Given the description of an element on the screen output the (x, y) to click on. 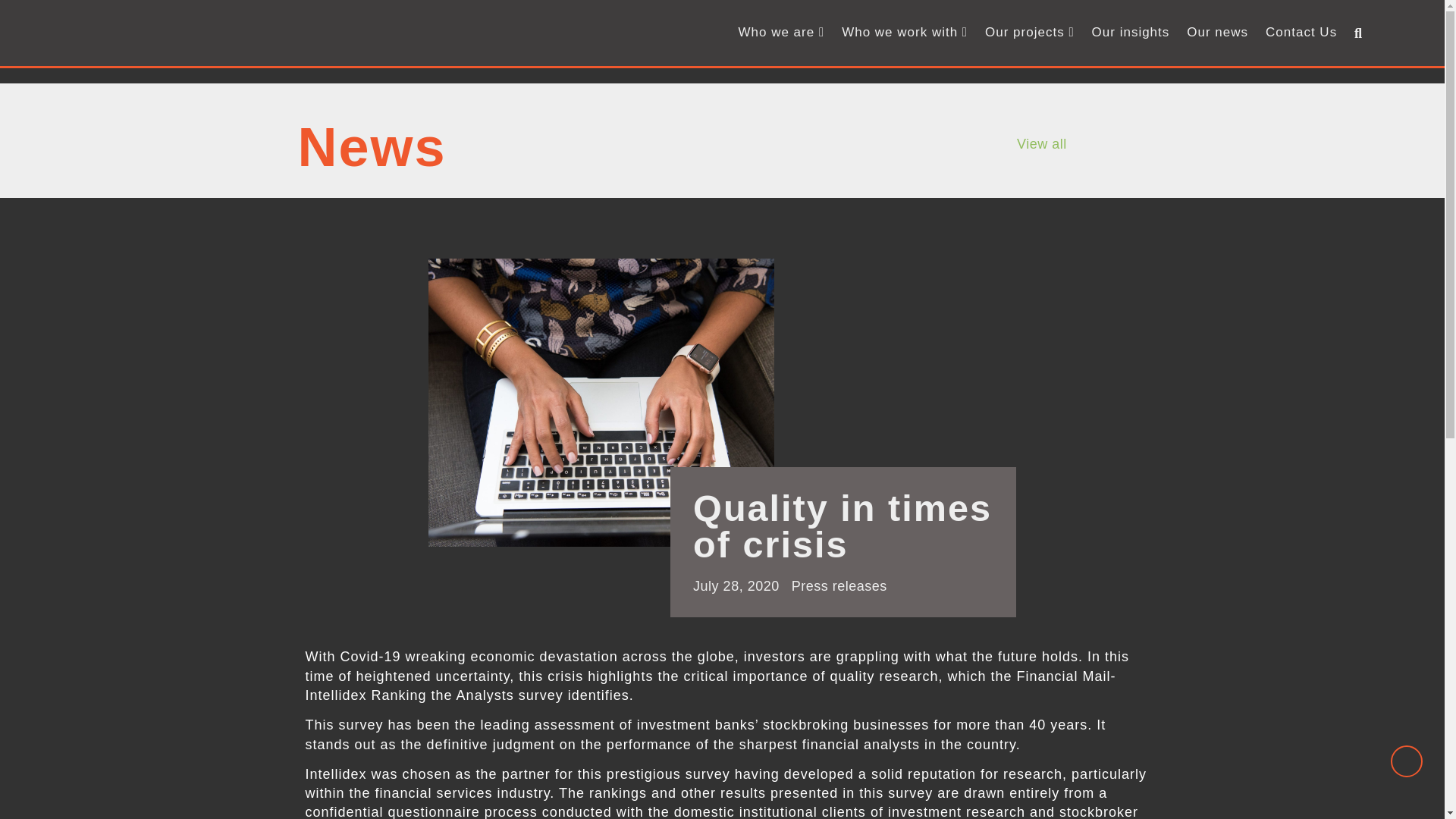
Our projects (1028, 32)
Who we are (780, 32)
Our insights (1130, 32)
Contact Us (1300, 32)
Who we work with (904, 32)
Our news (1217, 32)
